Given the description of an element on the screen output the (x, y) to click on. 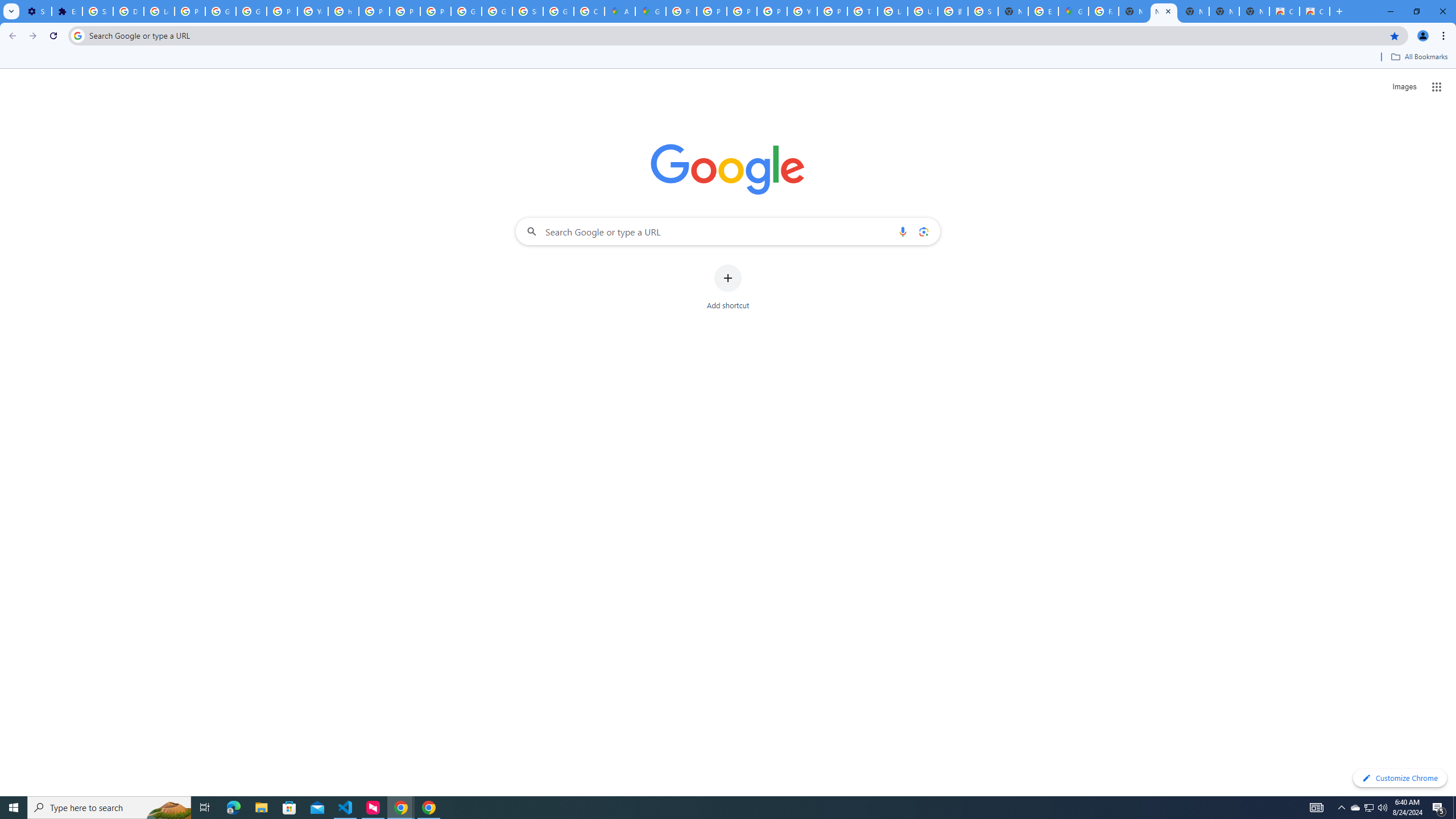
Sign in - Google Accounts (97, 11)
Privacy Help Center - Policies Help (741, 11)
Extensions (66, 11)
Policy Accountability and Transparency - Transparency Center (681, 11)
Settings - On startup (36, 11)
